Given the description of an element on the screen output the (x, y) to click on. 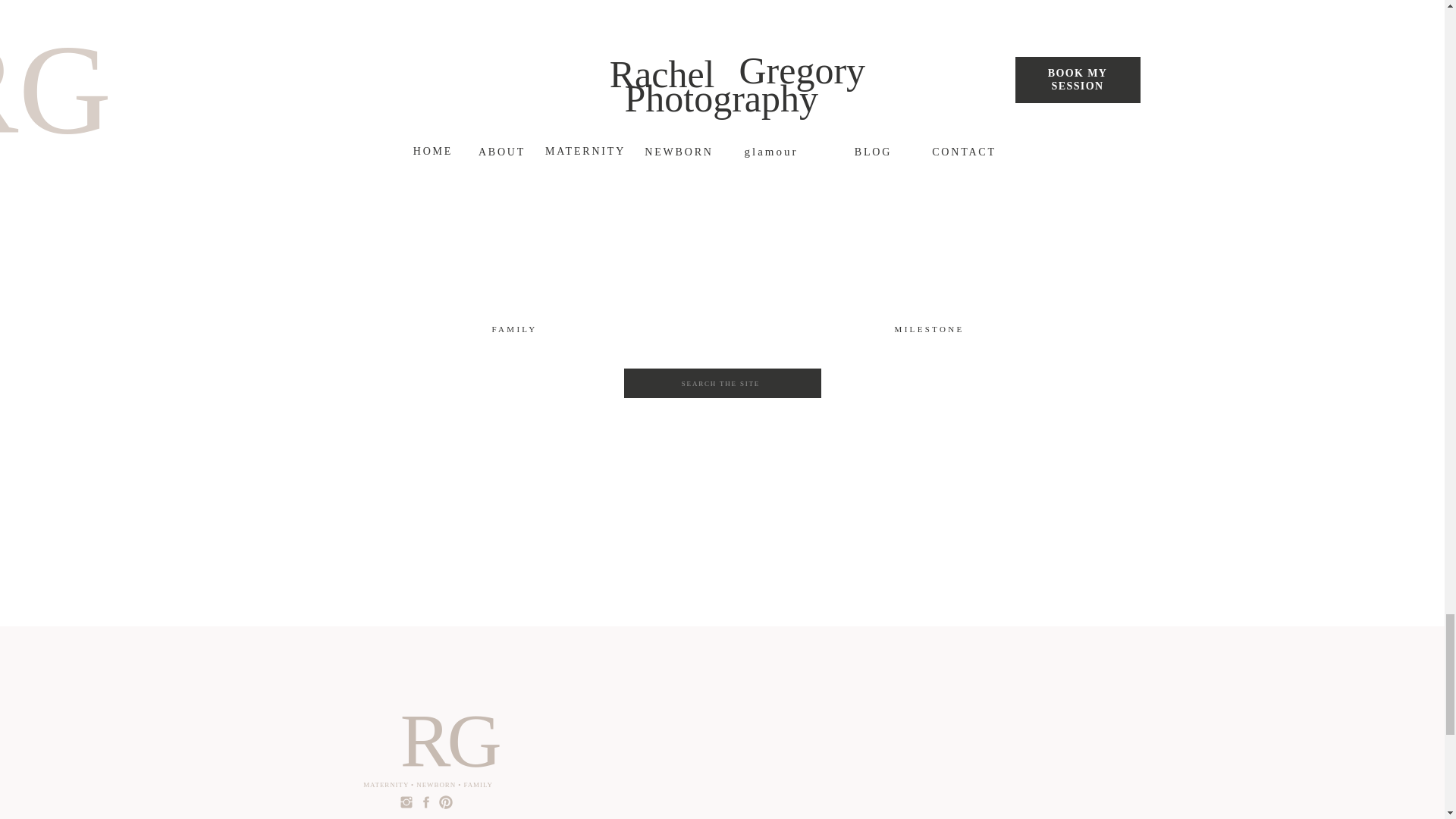
MILESTONE (928, 330)
MATERNITY (515, 30)
FAMILY (513, 331)
NEWBORN (928, 30)
